Given the description of an element on the screen output the (x, y) to click on. 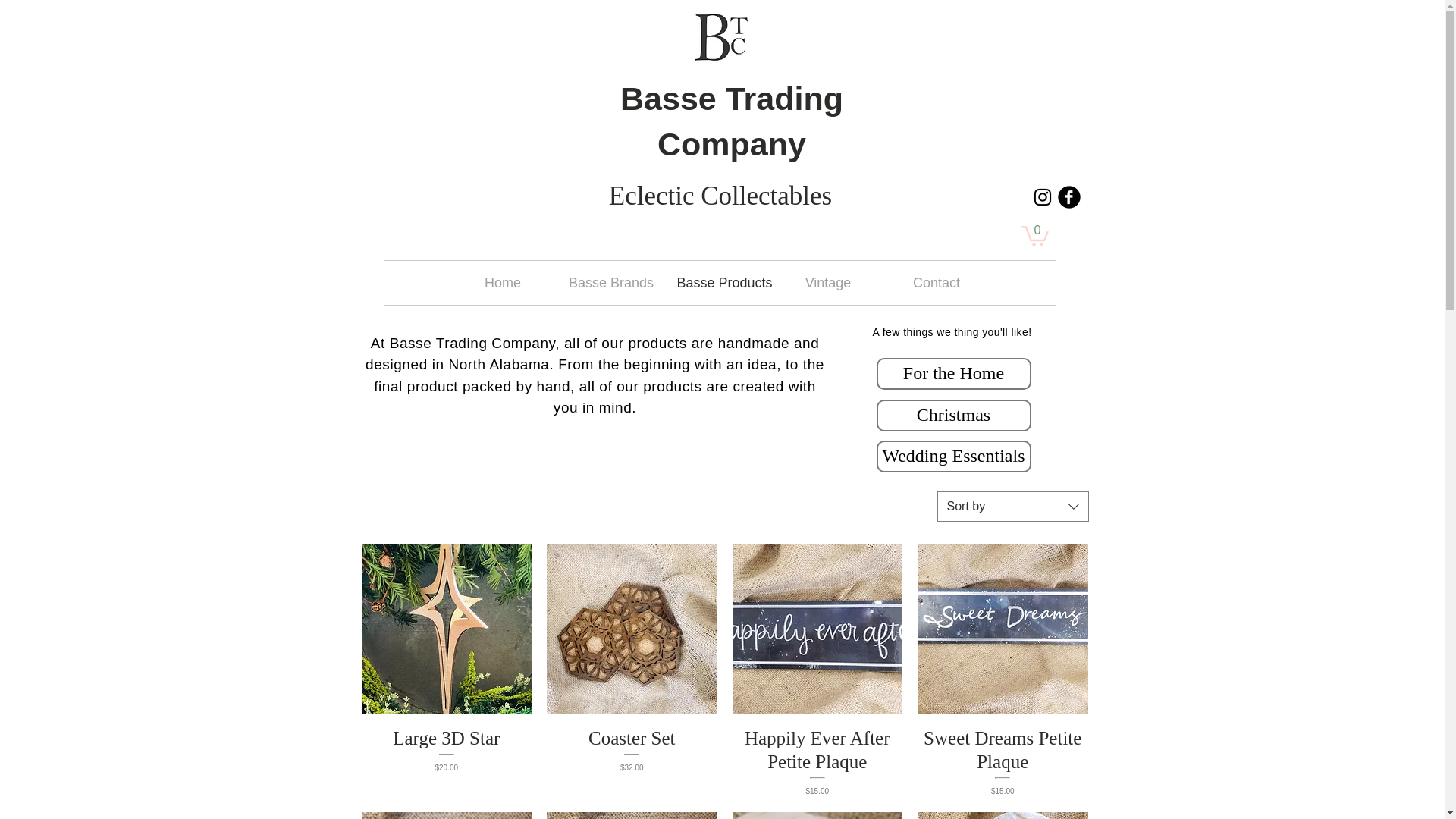
Contact (936, 282)
Home (502, 282)
0 (1034, 234)
Vintage (827, 282)
Wedding Essentials (953, 456)
Basse Trading Company (731, 121)
Sort by (1013, 506)
Basse Products (719, 282)
Christmas (953, 415)
Eclectic Collectables (719, 195)
